Given the description of an element on the screen output the (x, y) to click on. 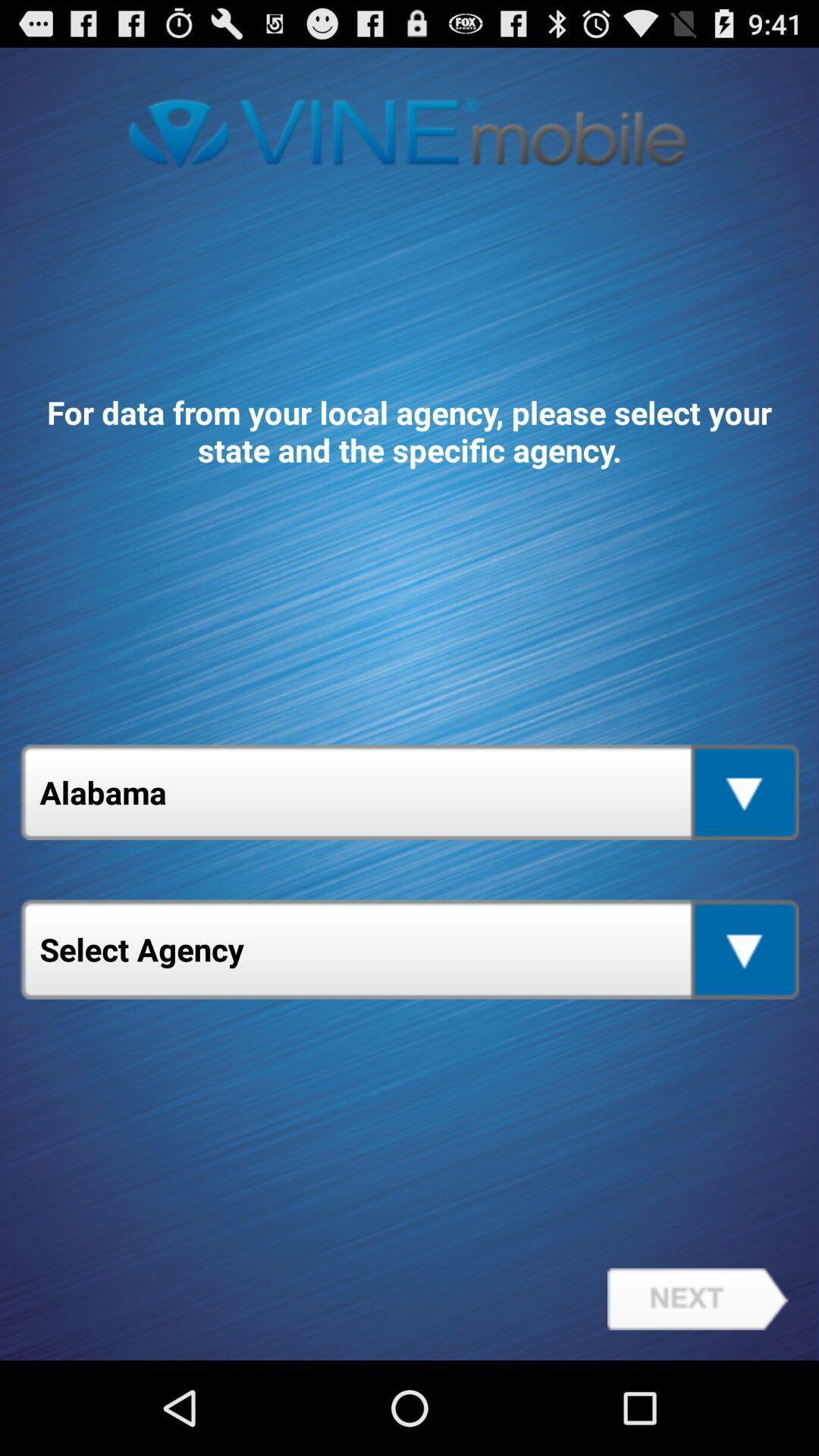
launch the app below the select agency (697, 1299)
